Given the description of an element on the screen output the (x, y) to click on. 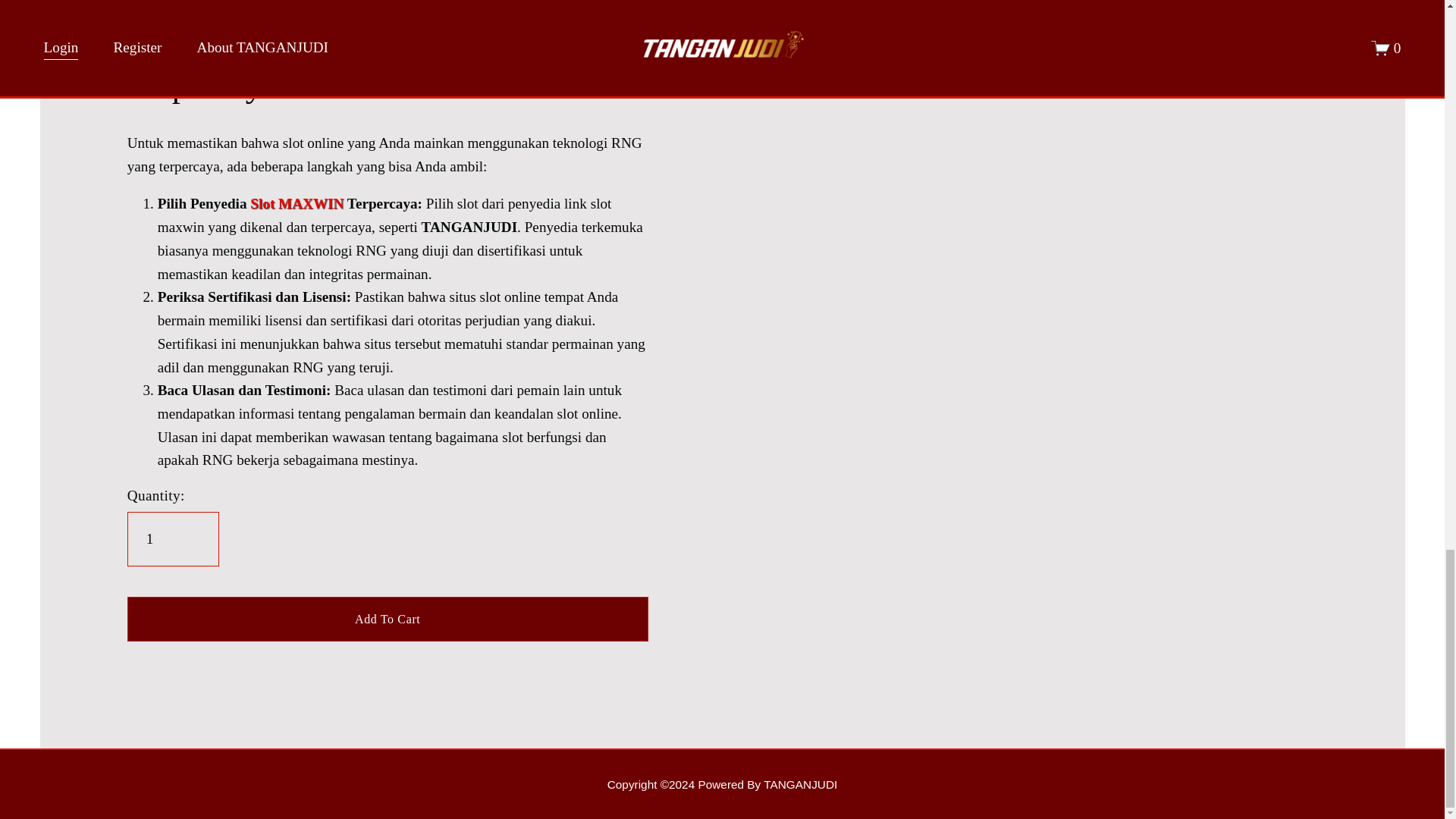
TANGANJUDI (722, 784)
Slot MAXWIN (296, 203)
1 (173, 538)
Add To Cart (387, 618)
